Given the description of an element on the screen output the (x, y) to click on. 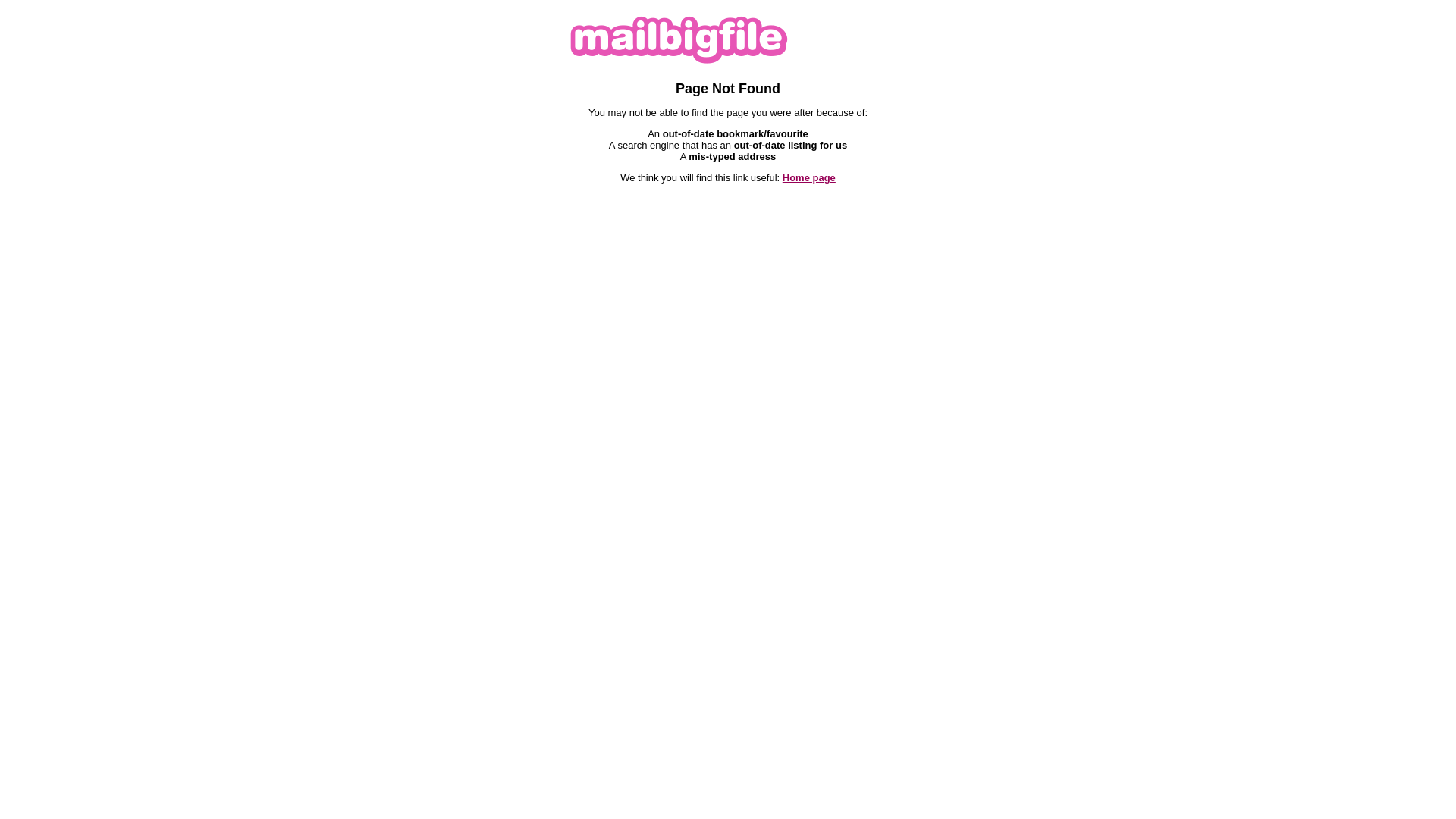
Home page Element type: text (808, 177)
